Given the description of an element on the screen output the (x, y) to click on. 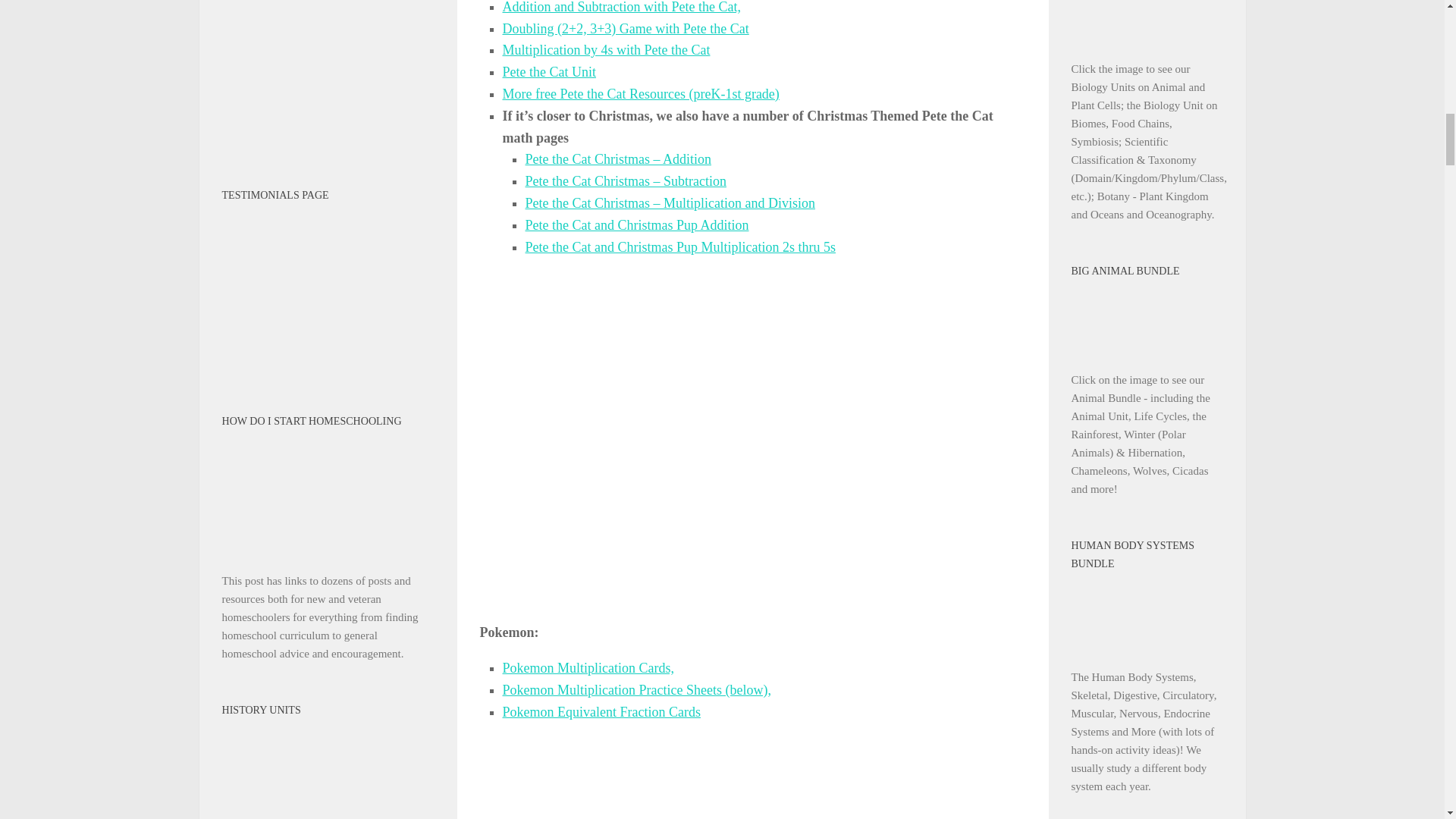
Pete the Cat Unit (548, 71)
Pokemon Multiplication Worksheets (636, 689)
Pokemon Multiplication Cards (588, 667)
Pokemon Fraction Cards (601, 711)
Pete the Cat Unit (640, 93)
